Given the description of an element on the screen output the (x, y) to click on. 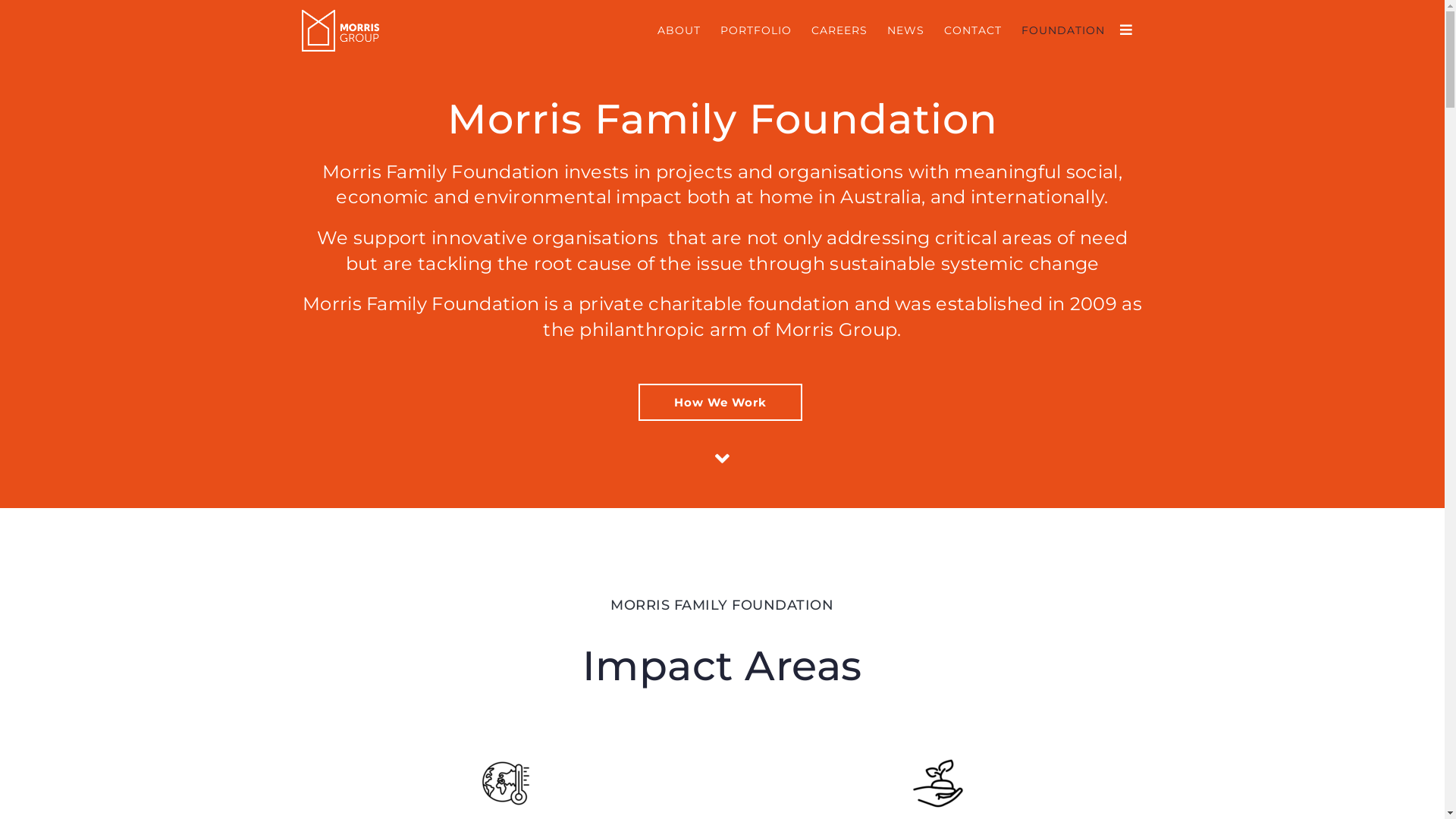
CAREERS Element type: text (838, 30)
CONTACT Element type: text (972, 30)
PORTFOLIO Element type: text (754, 30)
FOUNDATION Element type: text (1062, 30)
safe climate Element type: hover (505, 783)
How We Work Element type: text (720, 401)
NEWS Element type: text (904, 30)
ABOUT Element type: text (678, 30)
regen food Element type: hover (937, 783)
